Given the description of an element on the screen output the (x, y) to click on. 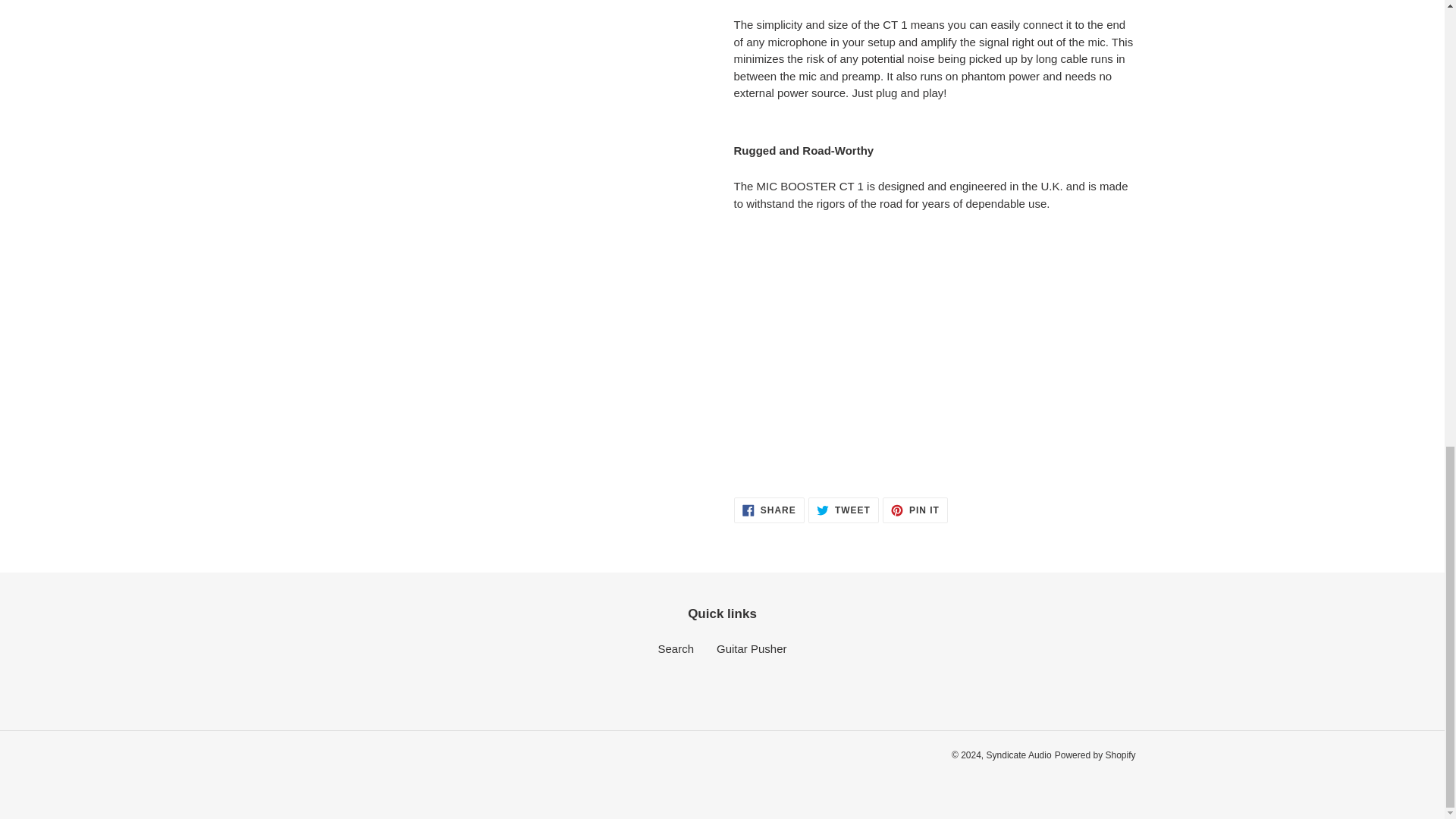
YouTube video player (945, 346)
